Given the description of an element on the screen output the (x, y) to click on. 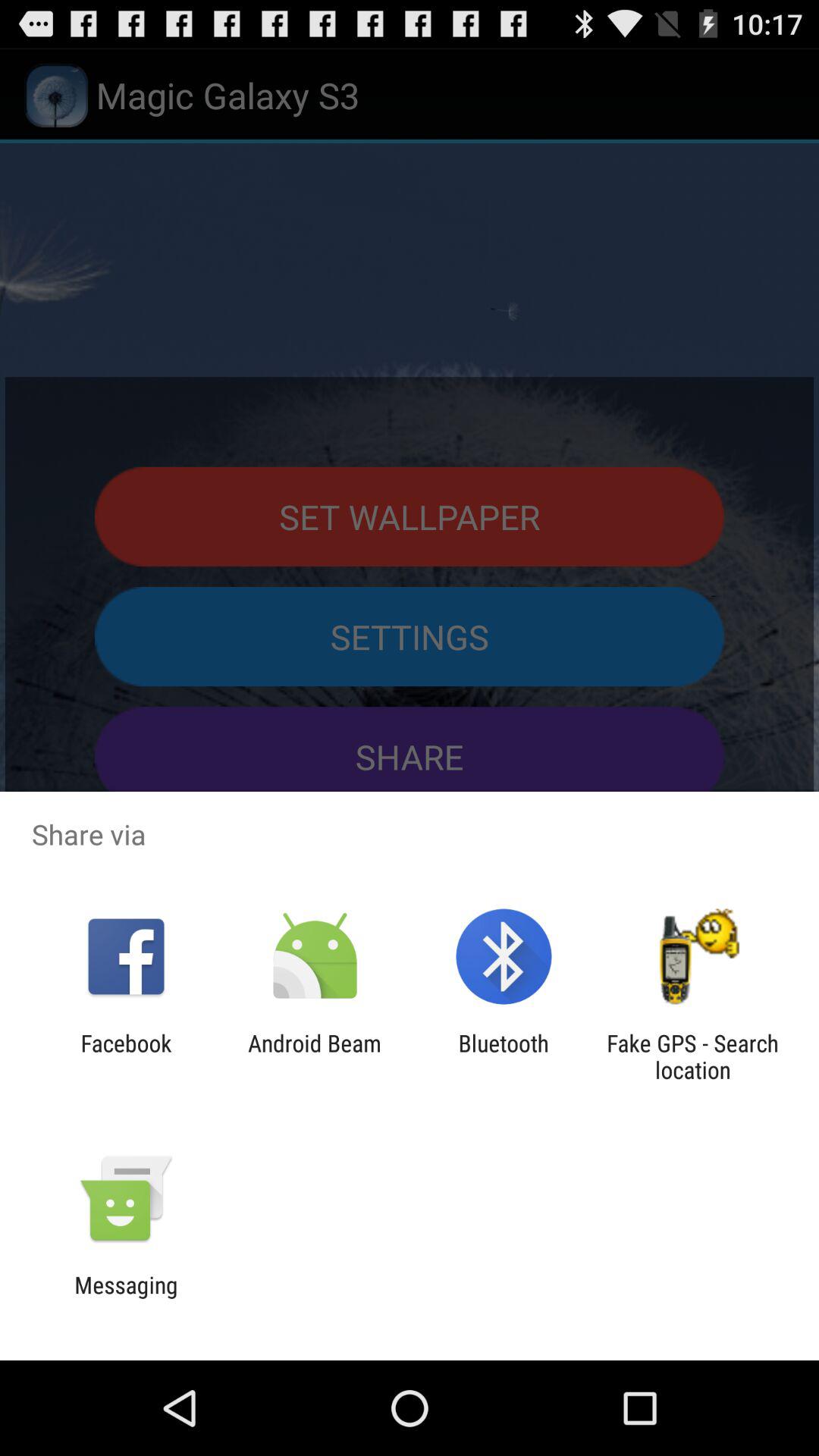
turn on fake gps search icon (692, 1056)
